Given the description of an element on the screen output the (x, y) to click on. 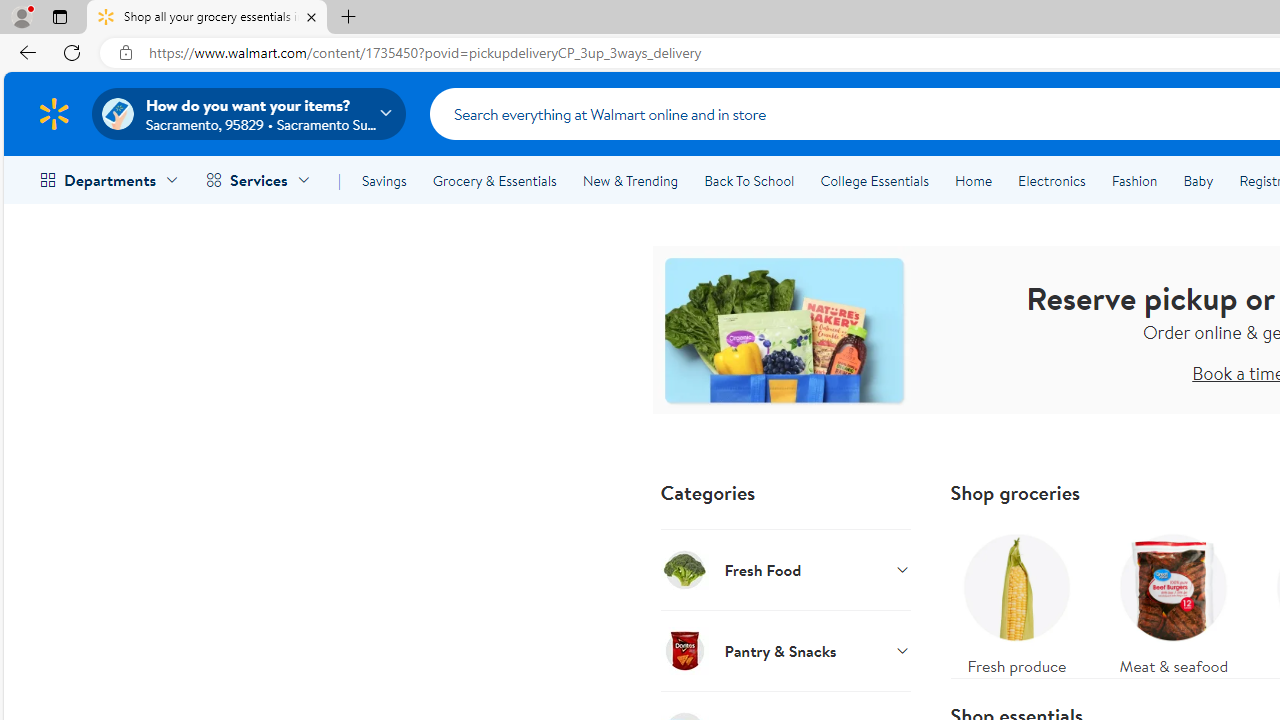
Electronics (1051, 180)
College Essentials (874, 180)
Back To School (749, 180)
Fresh produce (1016, 599)
Fresh Food (785, 569)
Pantry & Snacks (785, 650)
Shop all your grocery essentials in one place! - Walmart.com (207, 17)
Fashion (1134, 180)
Fashion (1134, 180)
Grocery & Essentials (493, 180)
